Given the description of an element on the screen output the (x, y) to click on. 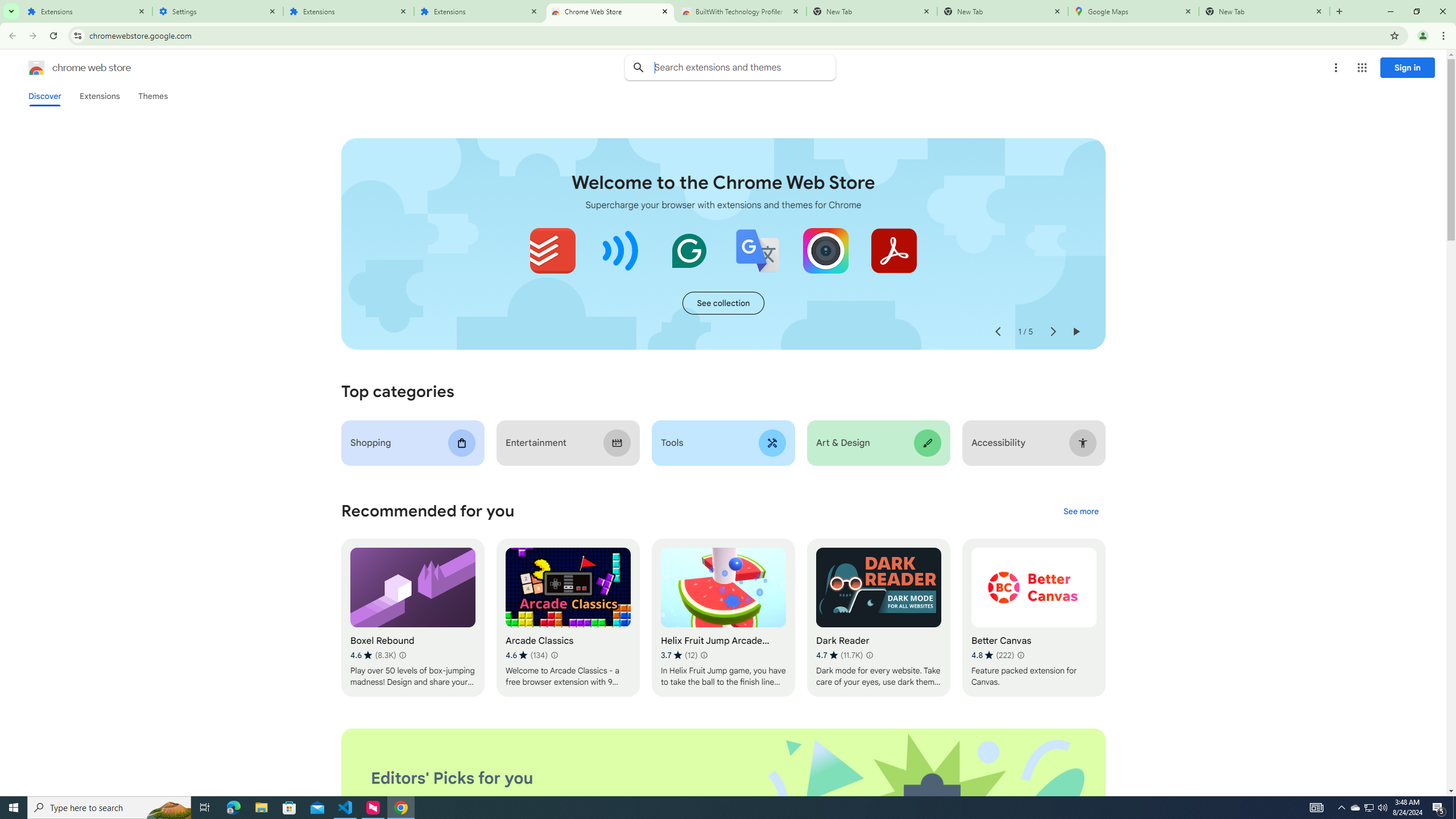
Learn more about results and reviews "Arcade Classics" (553, 655)
Dark Reader (878, 617)
Adobe Acrobat: PDF edit, convert, sign tools (893, 250)
Average rating 4.6 out of 5 stars. 8.3K ratings. (372, 655)
Extensions (99, 95)
Search input (744, 67)
See more personalized recommendations (1080, 511)
Extensions (348, 11)
Grammarly: AI Writing and Grammar Checker App (689, 250)
Average rating 4.6 out of 5 stars. 134 ratings. (526, 655)
Resume auto-play (1075, 331)
